Given the description of an element on the screen output the (x, y) to click on. 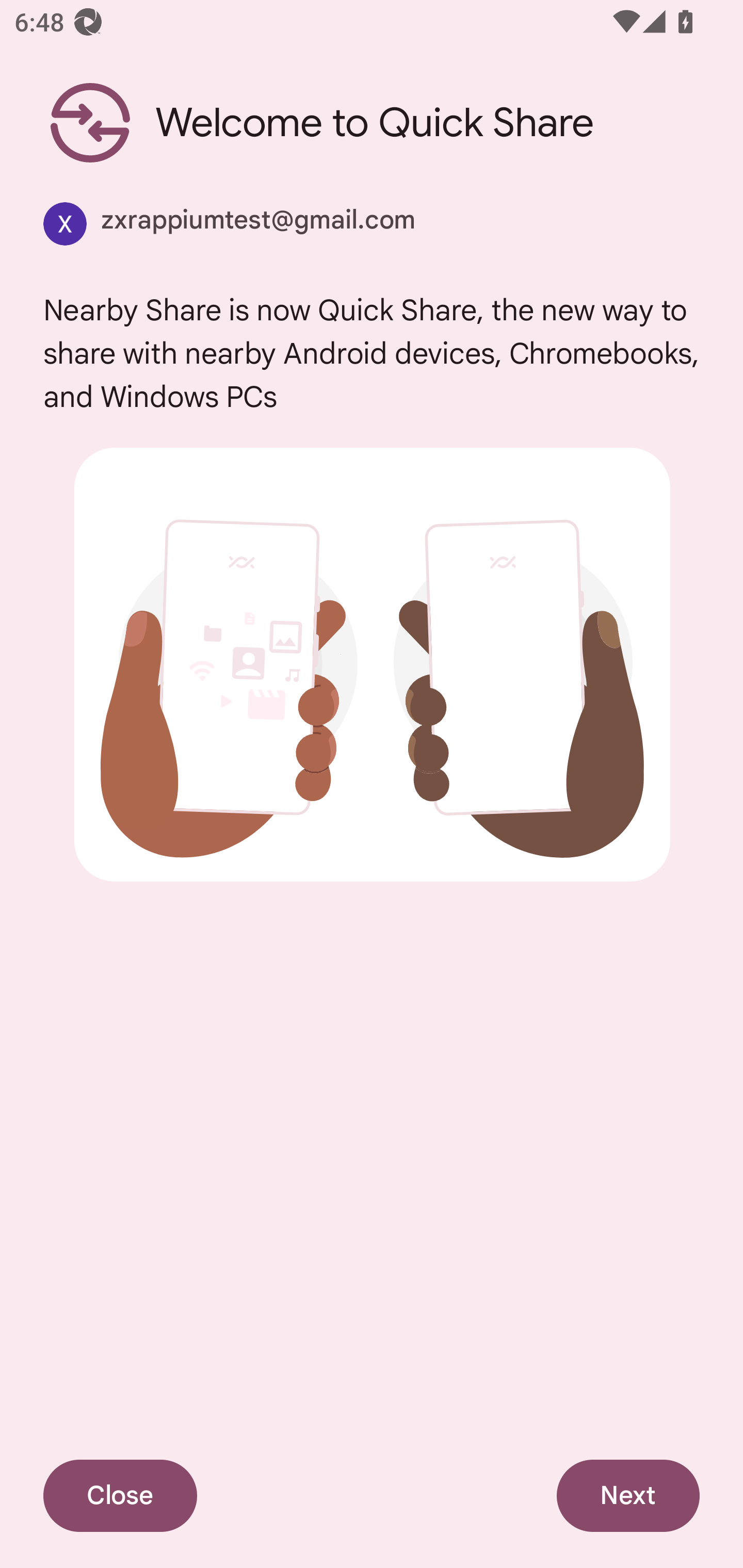
Close (119, 1495)
Next (627, 1495)
